Given the description of an element on the screen output the (x, y) to click on. 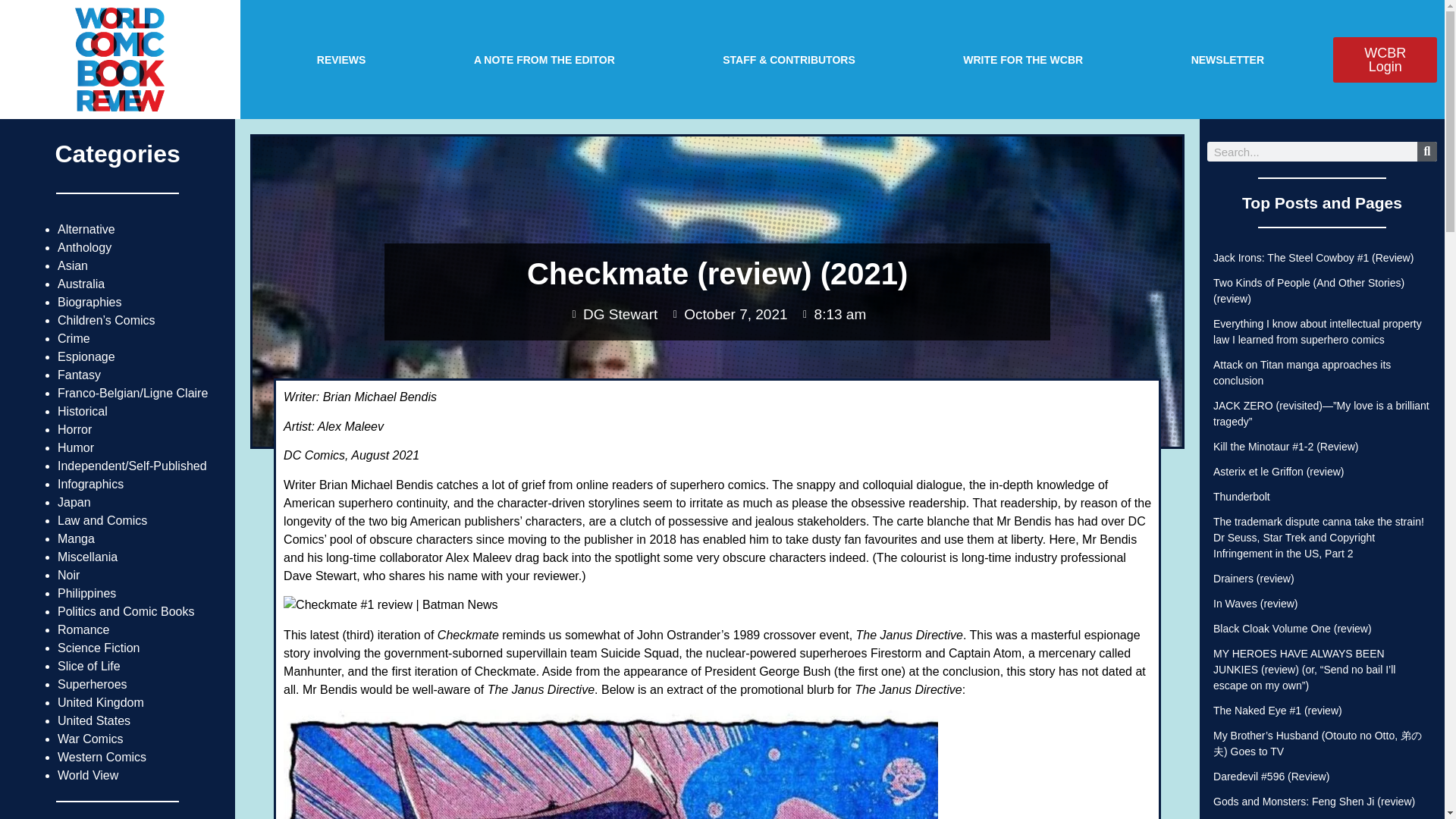
Espionage (86, 356)
Anthology (85, 246)
REVIEWS (341, 59)
WRITE FOR THE WCBR (1022, 59)
WCBR Login (1385, 59)
Fantasy (79, 374)
NEWSLETTER (1227, 59)
Alternative (86, 228)
Asian (72, 265)
Australia (81, 283)
Biographies (90, 301)
Historical (82, 410)
Crime (74, 338)
A NOTE FROM THE EDITOR (544, 59)
